Given the description of an element on the screen output the (x, y) to click on. 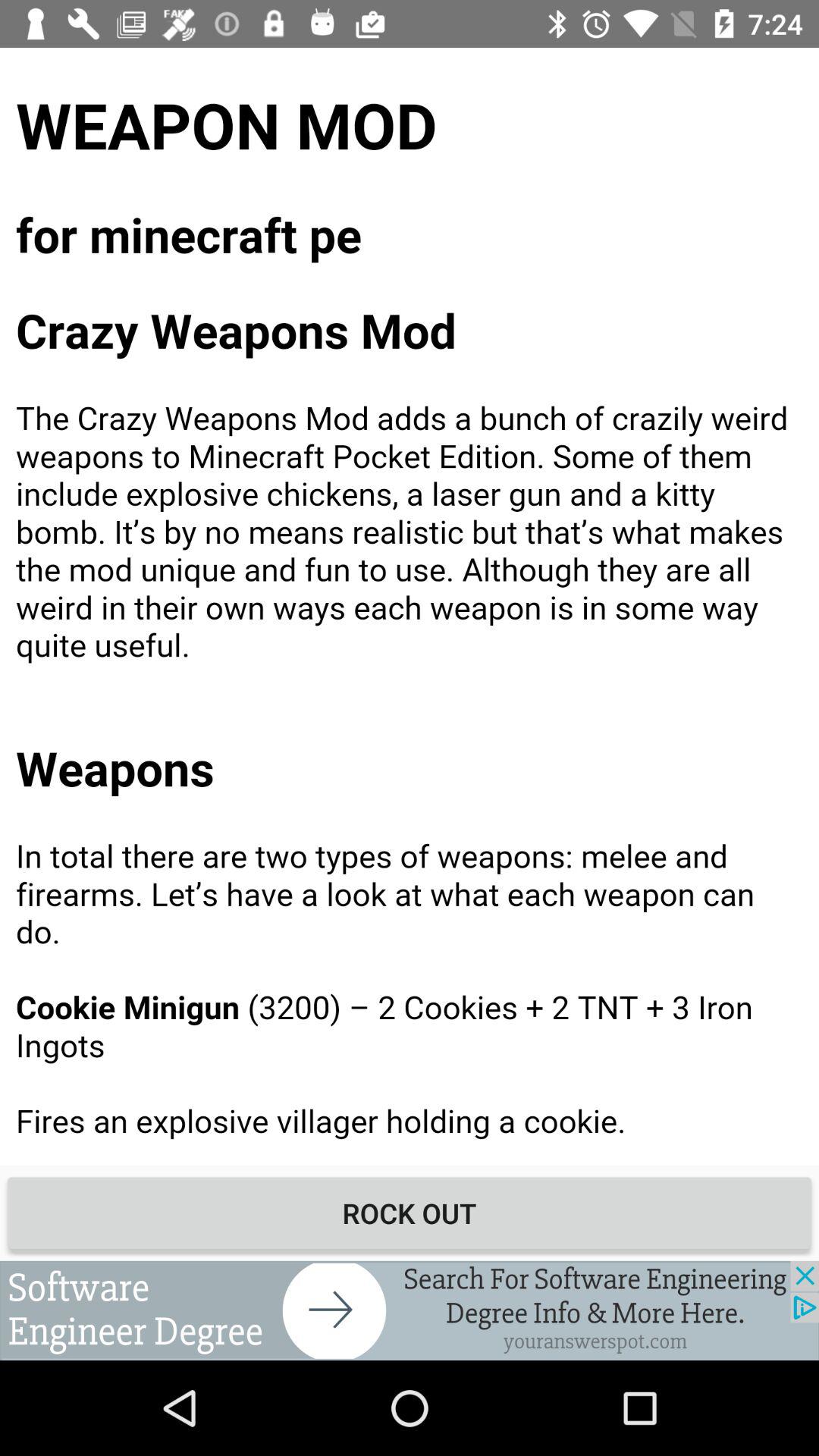
advertising (409, 1310)
